Given the description of an element on the screen output the (x, y) to click on. 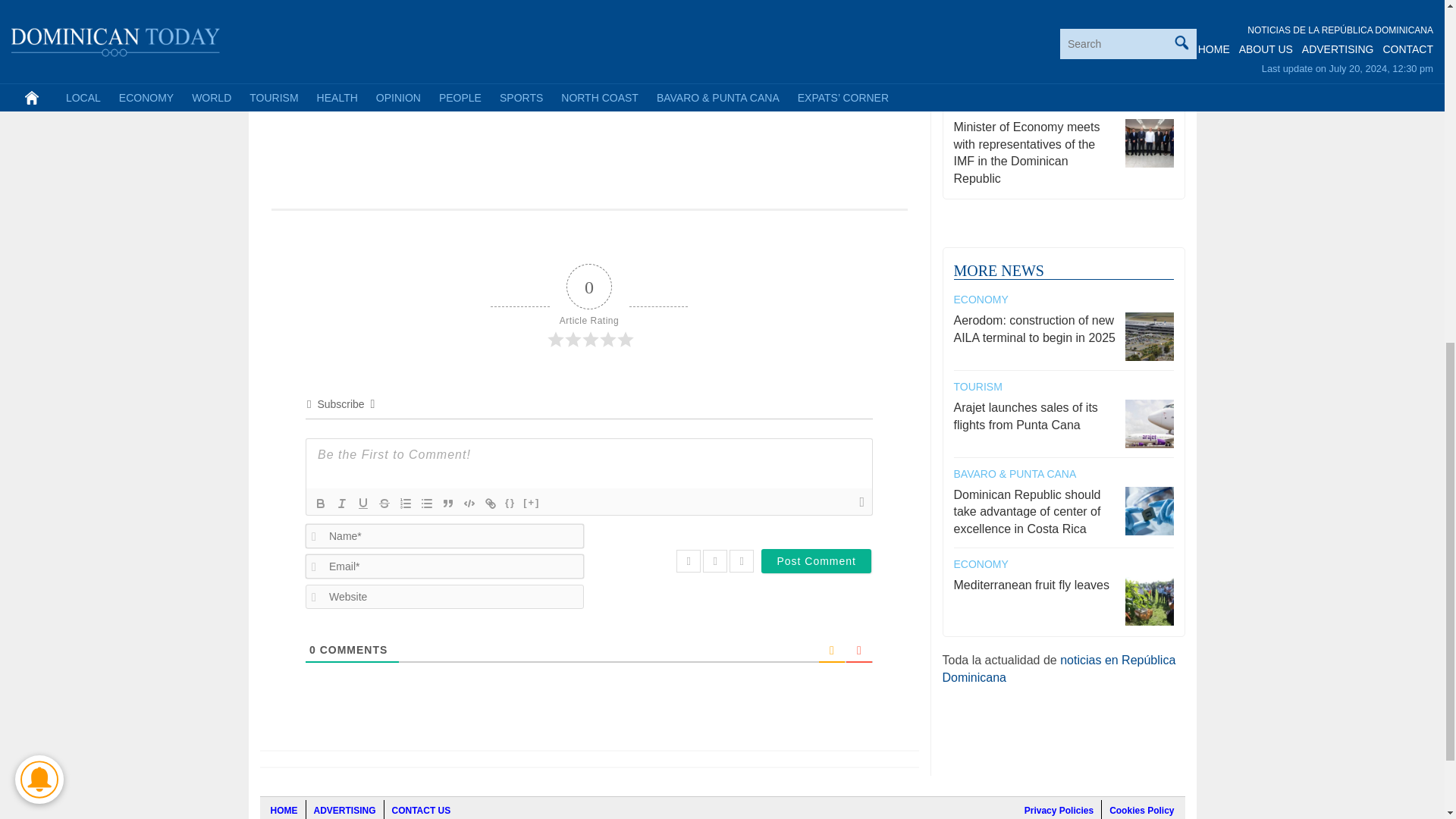
Bold (320, 503)
Code Block (469, 503)
Blockquote (448, 503)
Unordered List (427, 503)
ordered (405, 503)
bullet (427, 503)
Link (490, 503)
Ordered List (405, 503)
Italic (341, 503)
Source Code (509, 503)
Strike (384, 503)
Post Comment (815, 560)
Advertisement (588, 100)
Spoiler (531, 503)
Underline (363, 503)
